Given the description of an element on the screen output the (x, y) to click on. 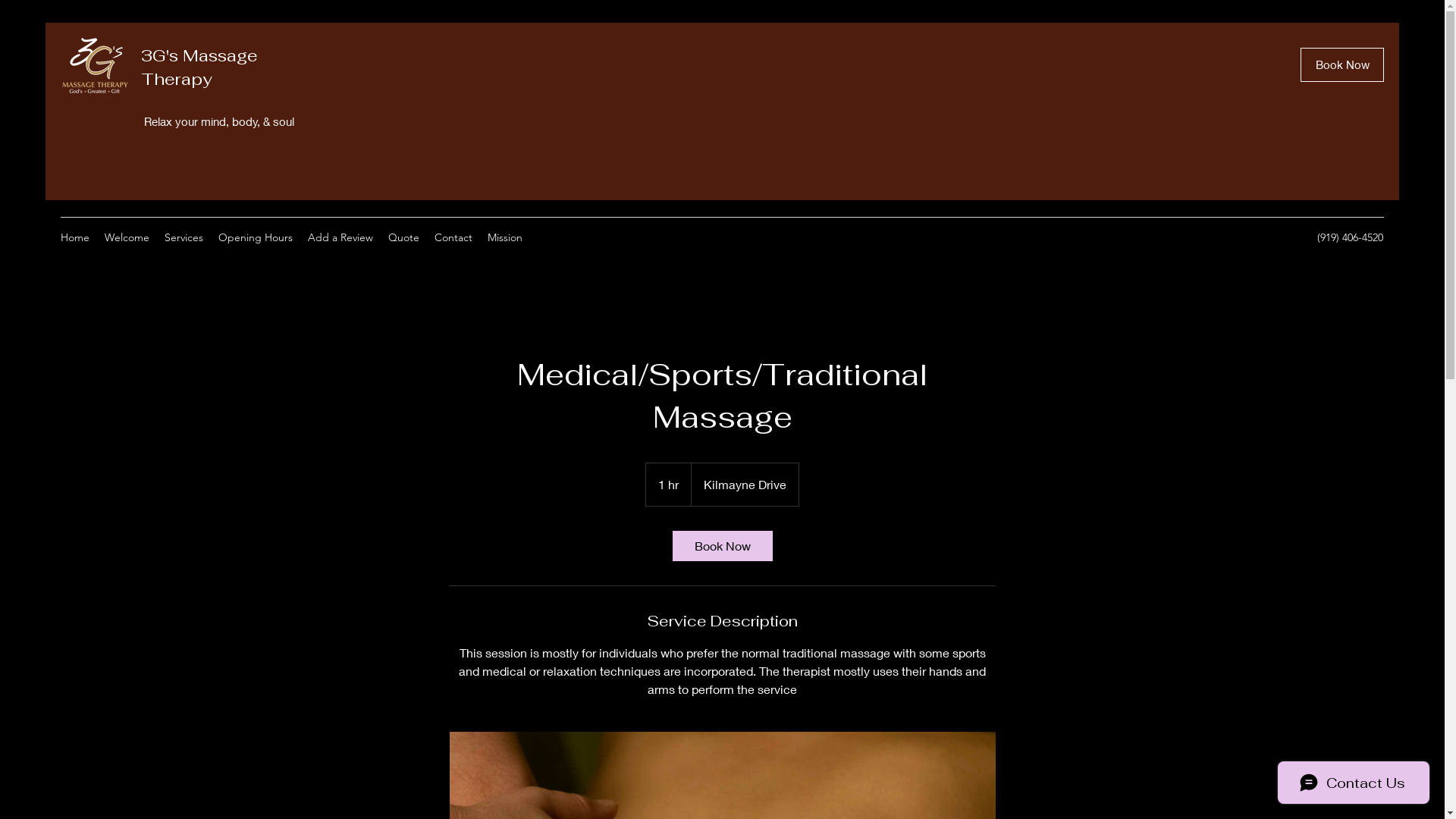
Home Element type: text (75, 236)
Book Now Element type: text (1341, 64)
Contact Element type: text (453, 236)
Mission Element type: text (505, 236)
Services Element type: text (183, 236)
Quote Element type: text (403, 236)
Opening Hours Element type: text (255, 236)
Welcome Element type: text (126, 236)
Book Now Element type: text (721, 545)
3G's Massage Therapy Element type: text (199, 66)
Add a Review Element type: text (340, 236)
